Given the description of an element on the screen output the (x, y) to click on. 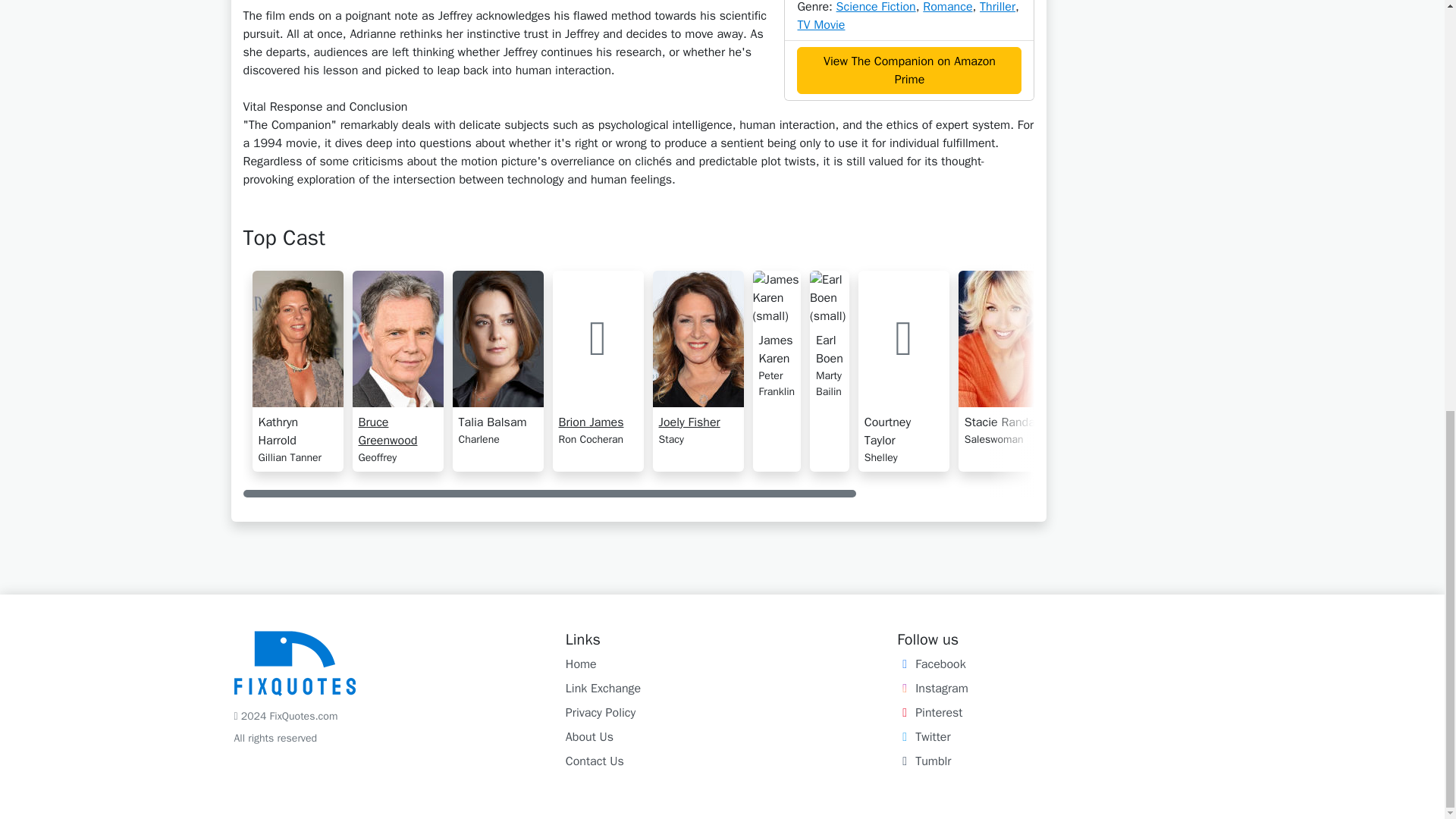
Twitter (923, 736)
Romance (947, 7)
Link Exchange (603, 688)
Instagram (932, 688)
Home (581, 663)
TV Movie (820, 24)
Facebook (930, 663)
Science Fiction (875, 7)
